Given the description of an element on the screen output the (x, y) to click on. 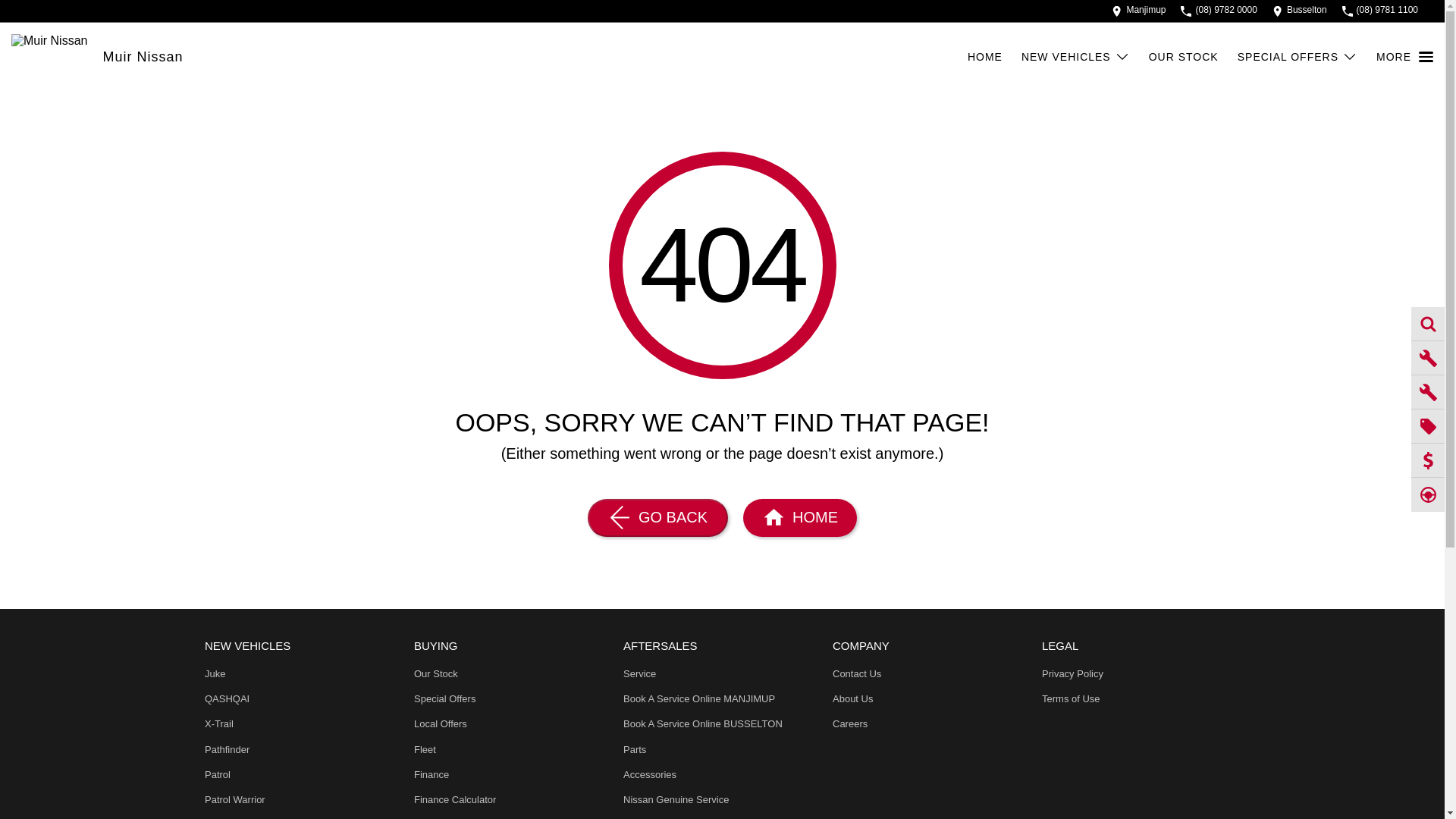
Busselton (1299, 10)
HOME (985, 56)
Muir Nissan (142, 56)
OUR STOCK (1183, 56)
SPECIAL OFFERS (1296, 56)
NEW VEHICLES (1075, 56)
Manjimup (1139, 10)
